Given the description of an element on the screen output the (x, y) to click on. 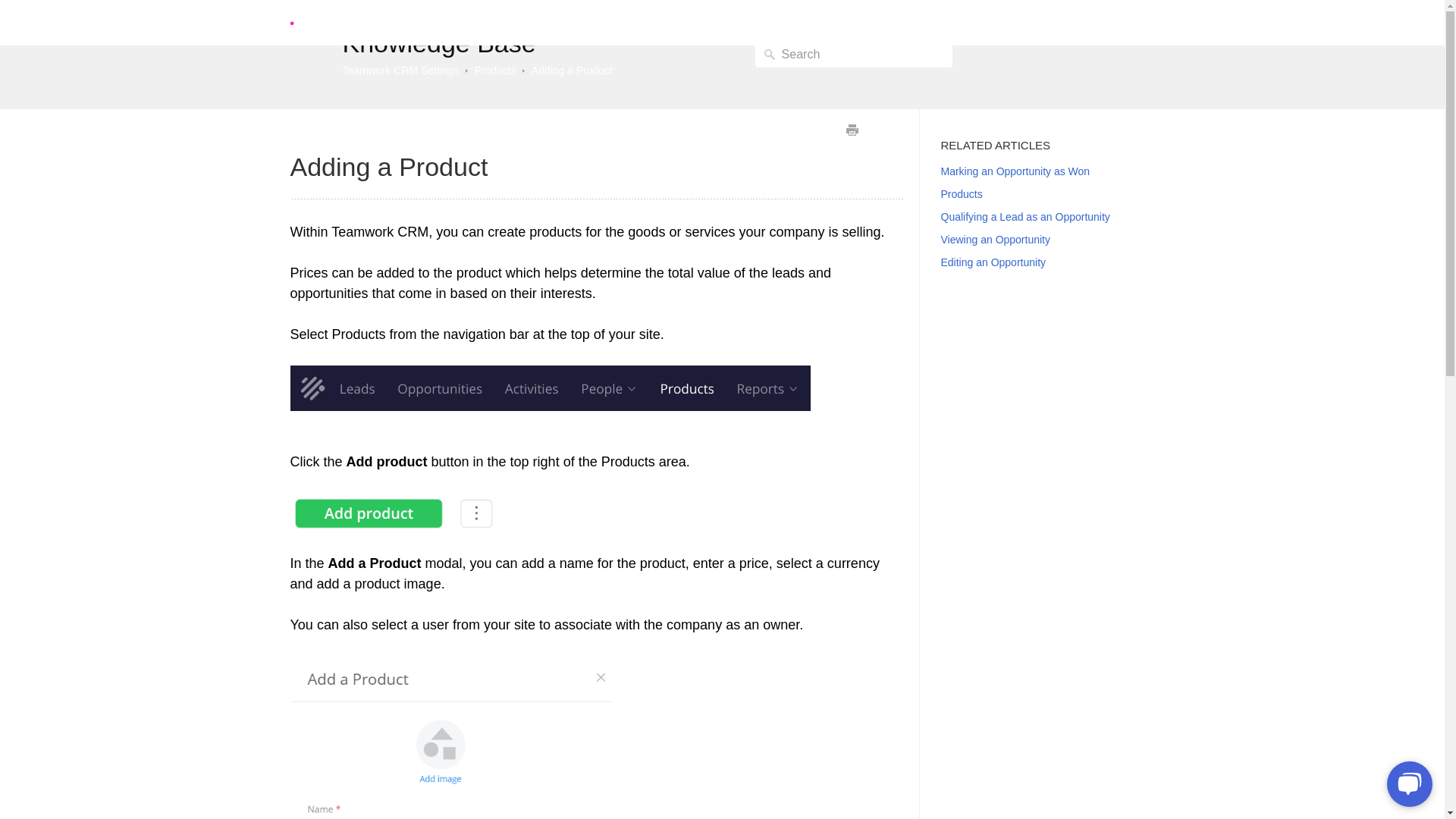
Print this article (851, 129)
Teamwork CRM Settings (401, 70)
Marking an Opportunity as Won (1014, 171)
Editing an Opportunity (992, 262)
Adding a Product (571, 70)
Submit a Request (1109, 22)
Print (851, 129)
Teamwork CRM (1002, 22)
Products (494, 70)
Products (960, 193)
Knowledge Base (438, 42)
Qualifying a Lead as an Opportunity (1024, 216)
Viewing an Opportunity (994, 239)
